Given the description of an element on the screen output the (x, y) to click on. 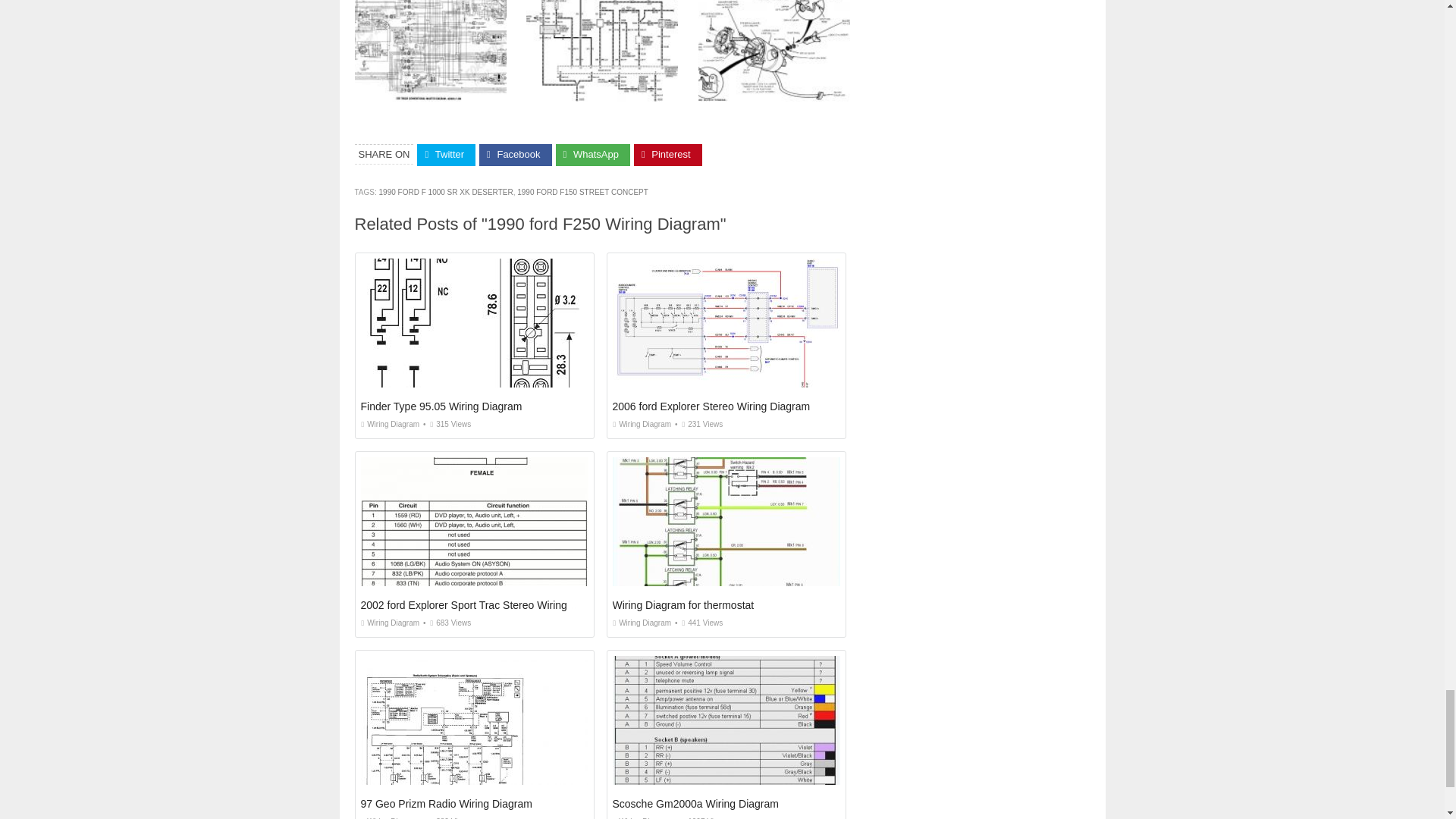
Wiring Diagram (390, 623)
Wiring Diagram for thermostat (683, 604)
Wiring Diagram (641, 424)
Wiring Diagram (390, 424)
97 Geo Prizm Radio Wiring Diagram (446, 803)
2002 ford Explorer Sport Trac Stereo Wiring Diagram (485, 604)
1990 FORD F150 STREET CONCEPT (581, 192)
Facebook (515, 155)
WhatsApp (593, 155)
Pinterest (667, 155)
